Given the description of an element on the screen output the (x, y) to click on. 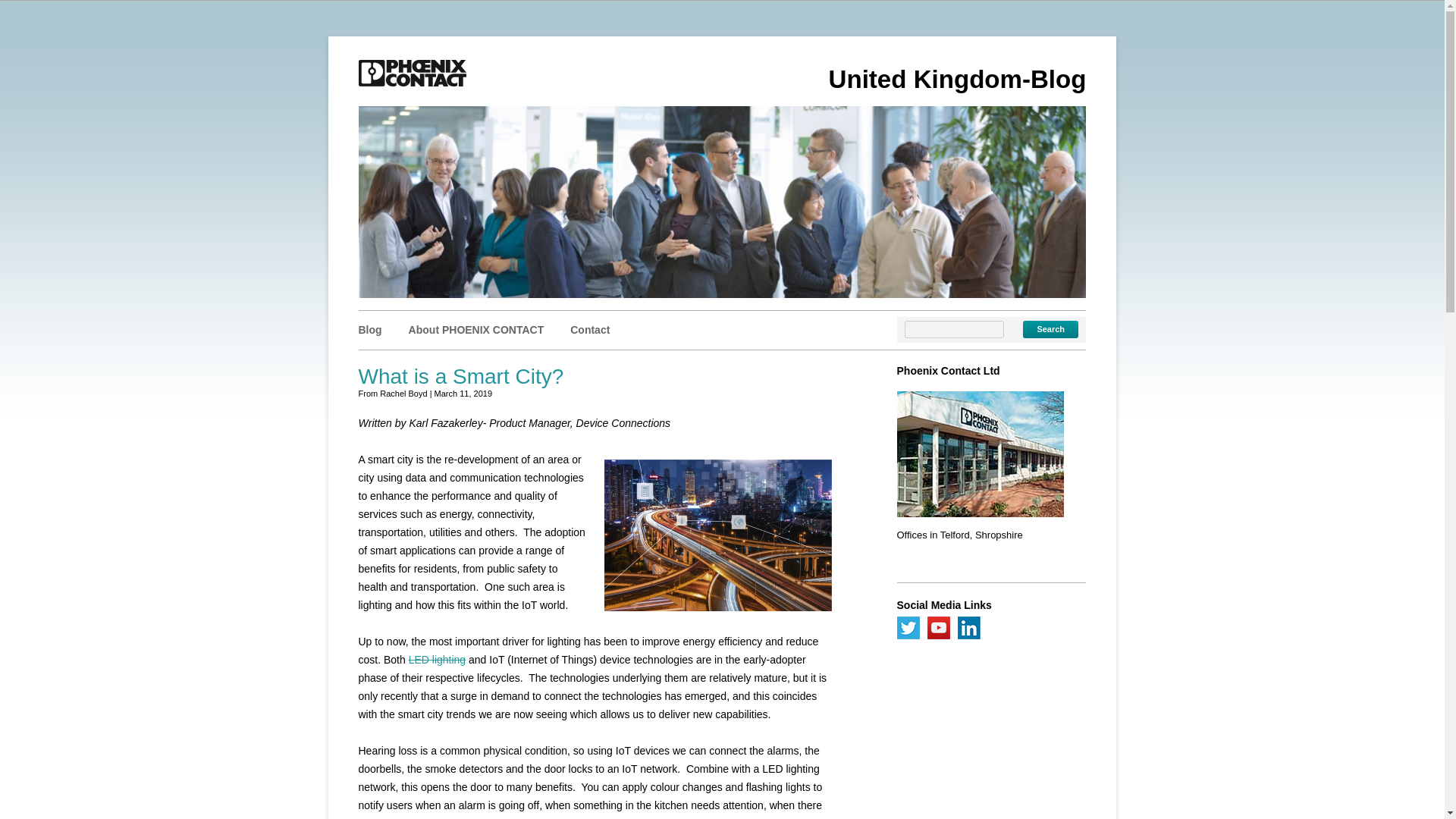
Search (1050, 329)
About PHOENIX CONTACT (476, 329)
United Kingdom (411, 72)
Contact (590, 329)
LED lighting (437, 659)
Search (1050, 329)
Blog (369, 329)
